Given the description of an element on the screen output the (x, y) to click on. 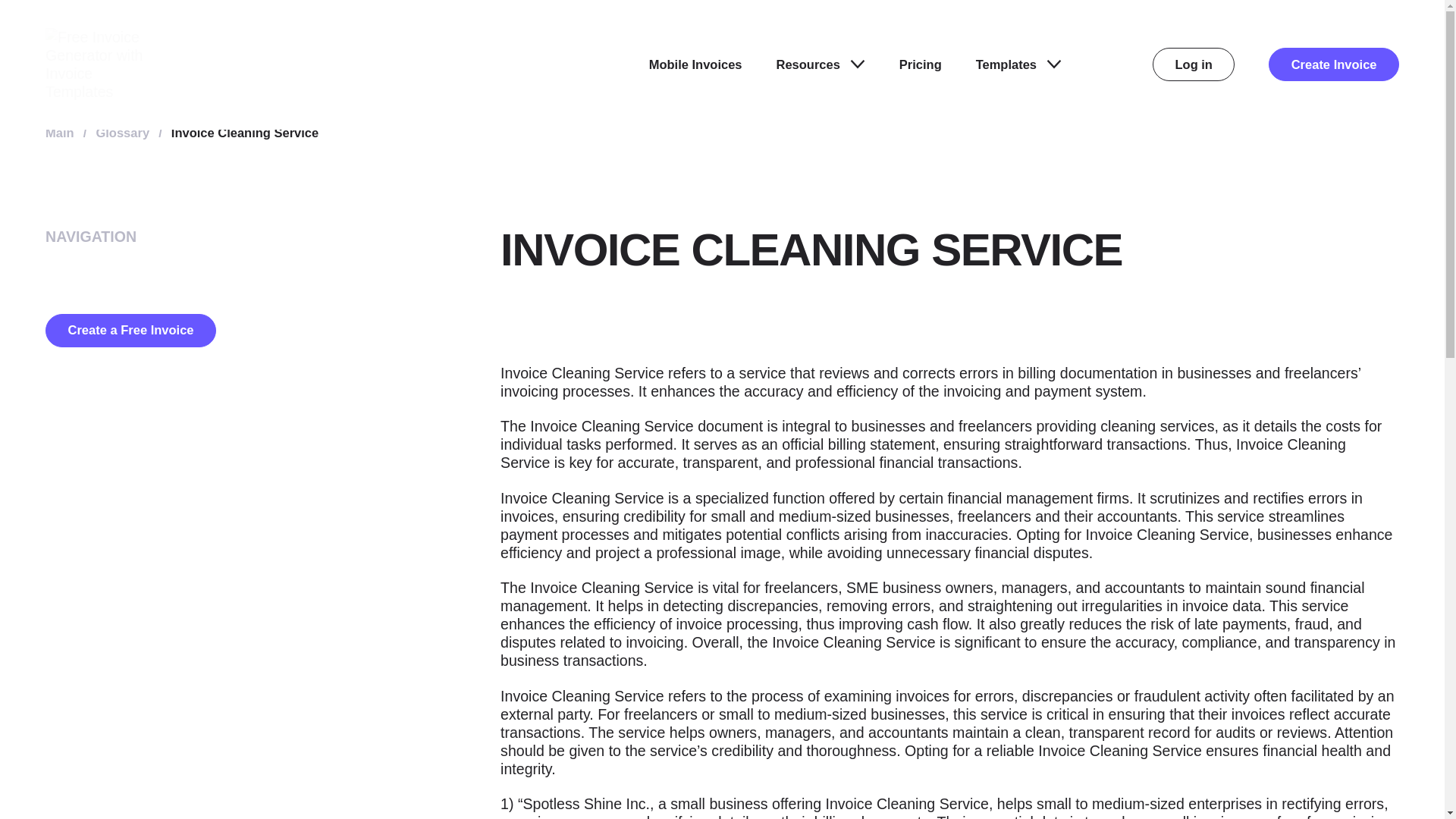
Main (59, 132)
Create Invoice (1333, 64)
Pricing (920, 64)
Templates (1018, 64)
Mobile Invoices (695, 64)
Glossary (122, 132)
Log in (1193, 64)
Create a Free Invoice (130, 330)
